Given the description of an element on the screen output the (x, y) to click on. 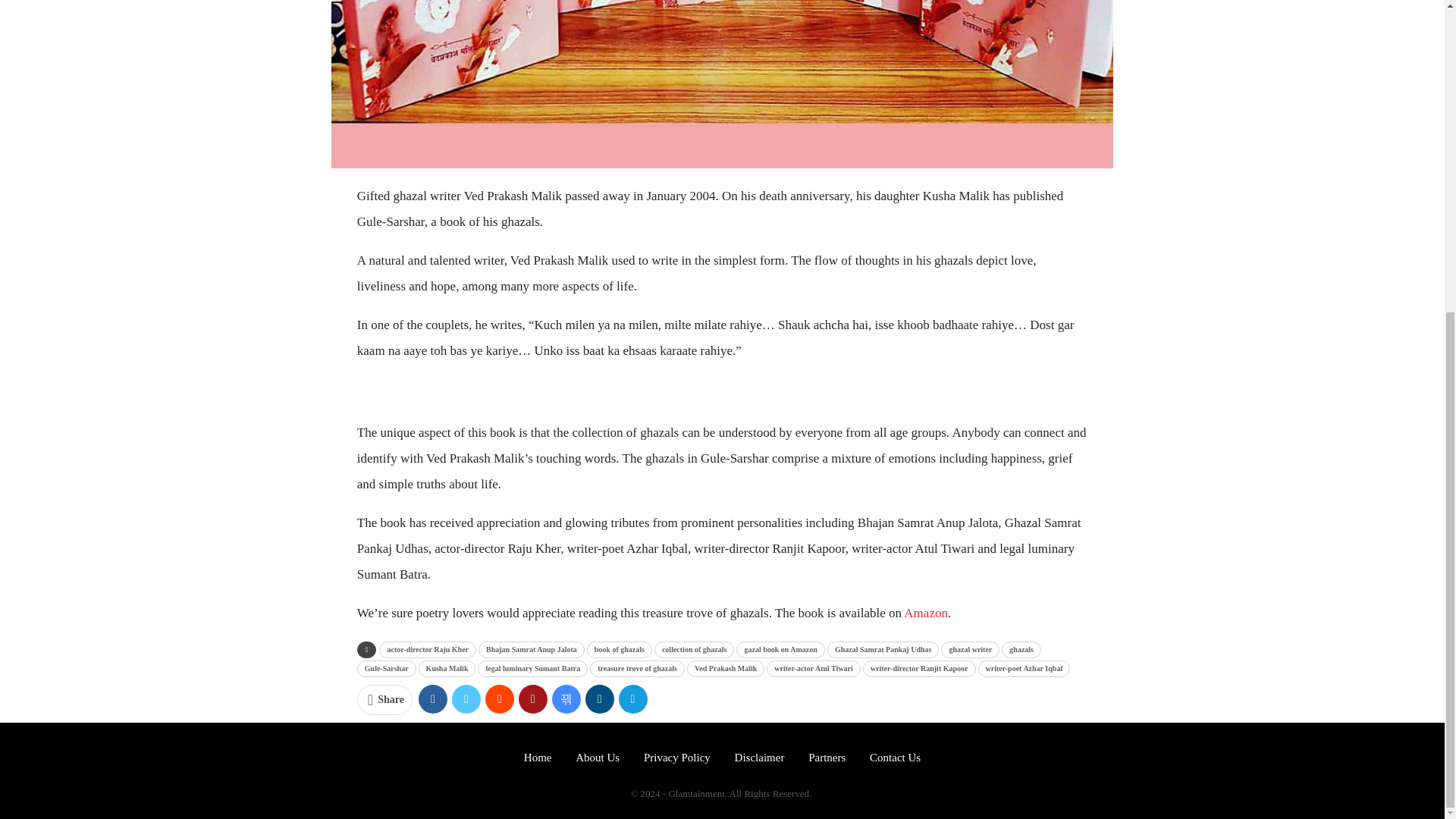
gazal book on Amazon (780, 649)
collection of ghazals (694, 649)
writer-actor Atul Tiwari (813, 668)
Gule-Sarshar (386, 668)
Ved Prakash Malik (725, 668)
treasure trove of ghazals (636, 668)
Bhajan Samrat Anup Jalota (532, 649)
book of ghazals (619, 649)
writer-director Ranjit Kapoor (919, 668)
legal luminary Sumant Batra (532, 668)
